Given the description of an element on the screen output the (x, y) to click on. 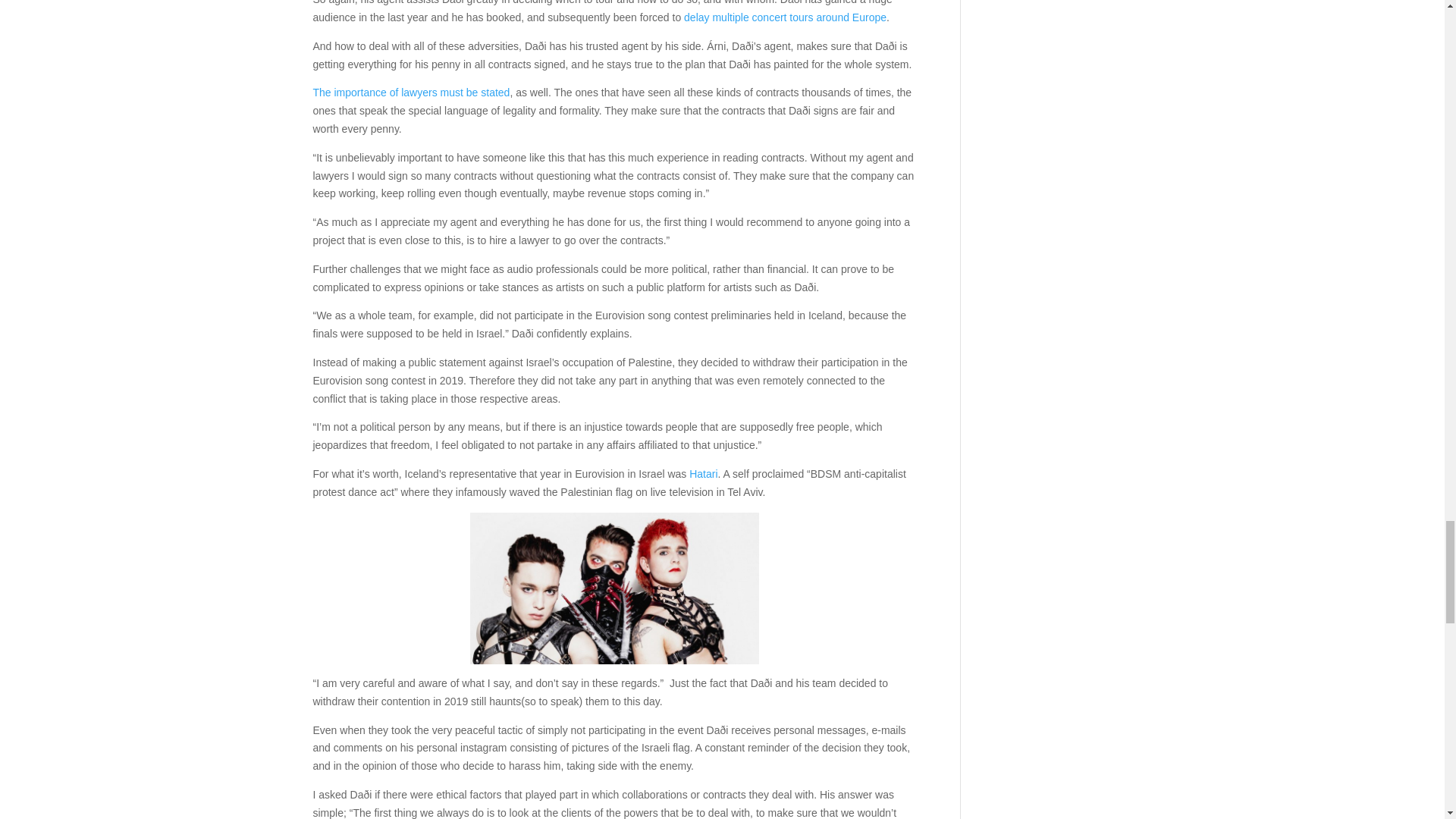
Hatari (702, 473)
delay multiple concert tours around Europe (785, 17)
The importance of lawyers must be stated (411, 92)
